Given the description of an element on the screen output the (x, y) to click on. 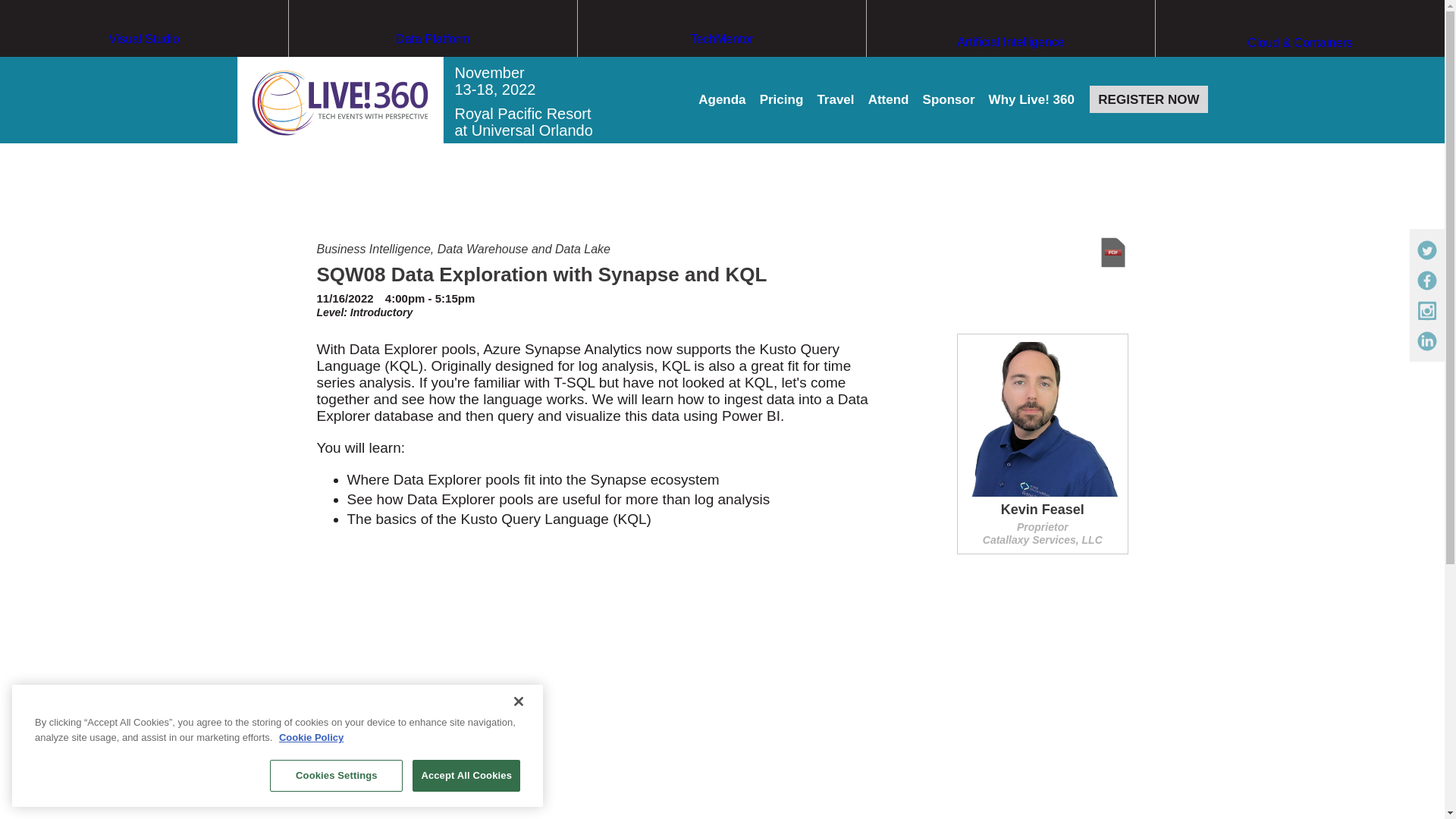
Data Platform (432, 67)
Attend (887, 99)
Artificial Intelligence (1010, 70)
Sponsor (949, 99)
Travel (834, 99)
Agenda (721, 99)
Pricing (781, 99)
TechMentor (722, 67)
Visual Studio (144, 67)
Live Chat Button (1414, 788)
